Given the description of an element on the screen output the (x, y) to click on. 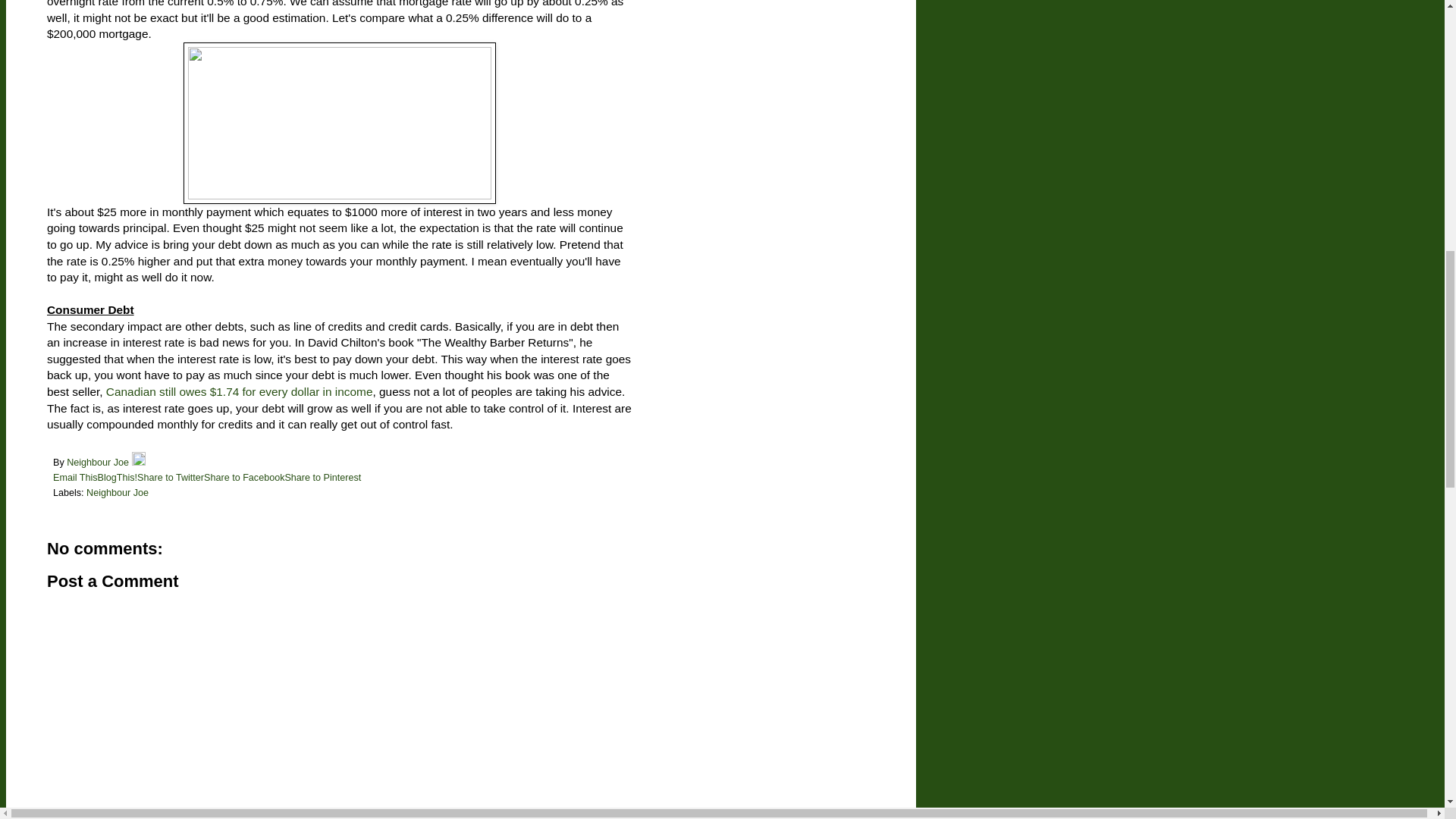
author profile (98, 462)
Share to Pinterest (322, 477)
Share to Pinterest (322, 477)
Edit Post (138, 462)
Share to Facebook (243, 477)
BlogThis! (117, 477)
BlogThis! (117, 477)
Neighbour Joe (98, 462)
Neighbour Joe (116, 492)
Email This (74, 477)
Share to Facebook (243, 477)
Share to Twitter (169, 477)
Share to Twitter (169, 477)
Email This (74, 477)
